Given the description of an element on the screen output the (x, y) to click on. 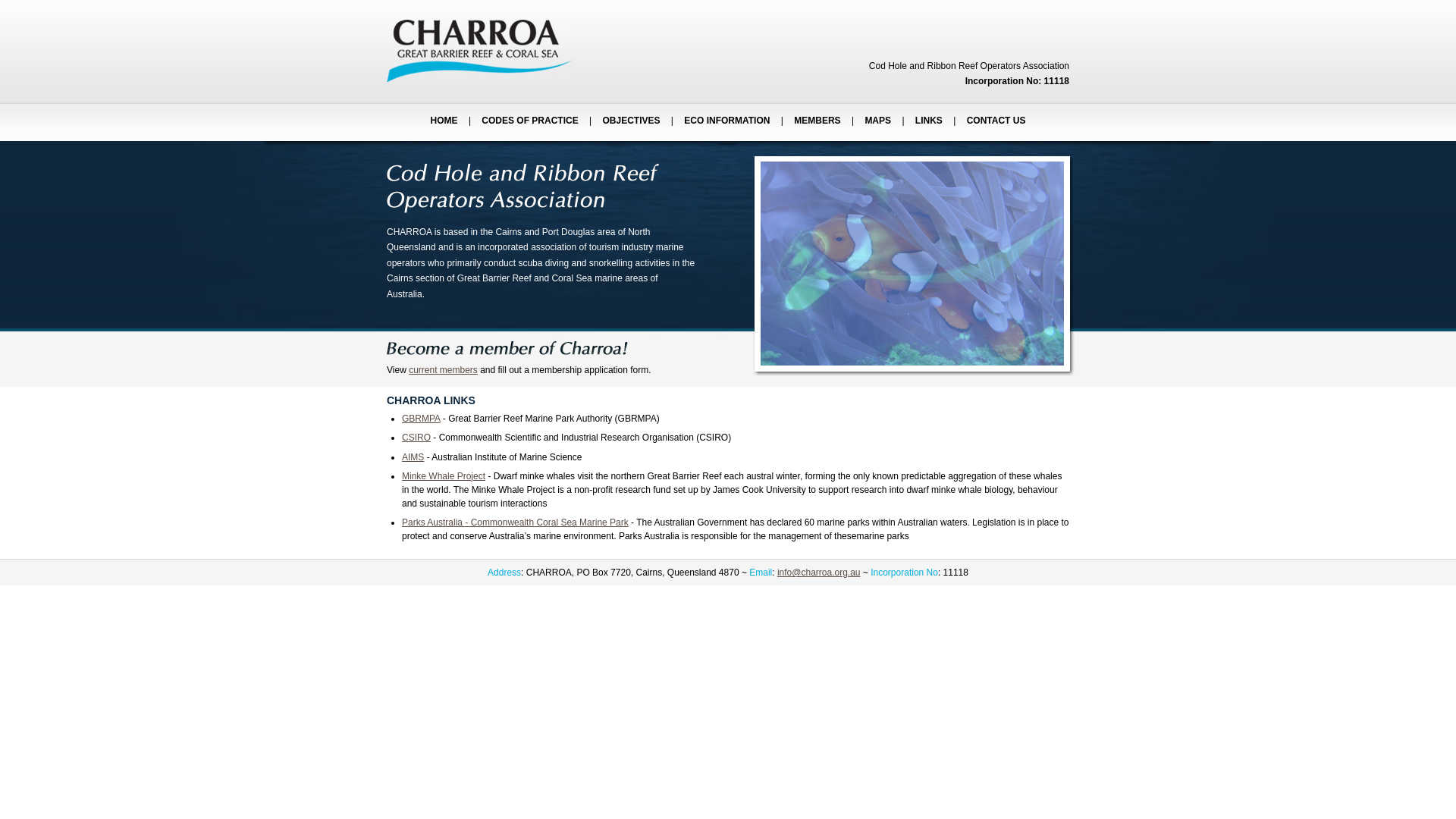
CODES OF PRACTICE Element type: text (529, 120)
OBJECTIVES Element type: text (630, 120)
MEMBERS Element type: text (816, 120)
CONTACT US Element type: text (996, 120)
MAPS Element type: text (877, 120)
Minke Whale Project Element type: text (443, 475)
AIMS Element type: text (412, 456)
Parks Australia - Commonwealth Coral Sea Marine Park Element type: text (514, 522)
CSIRO Element type: text (415, 437)
ECO INFORMATION Element type: text (726, 120)
info@charroa.org.au Element type: text (818, 572)
current members Element type: text (442, 369)
HOME Element type: text (444, 120)
GBRMPA Element type: text (420, 418)
LINKS Element type: text (928, 120)
